Given the description of an element on the screen output the (x, y) to click on. 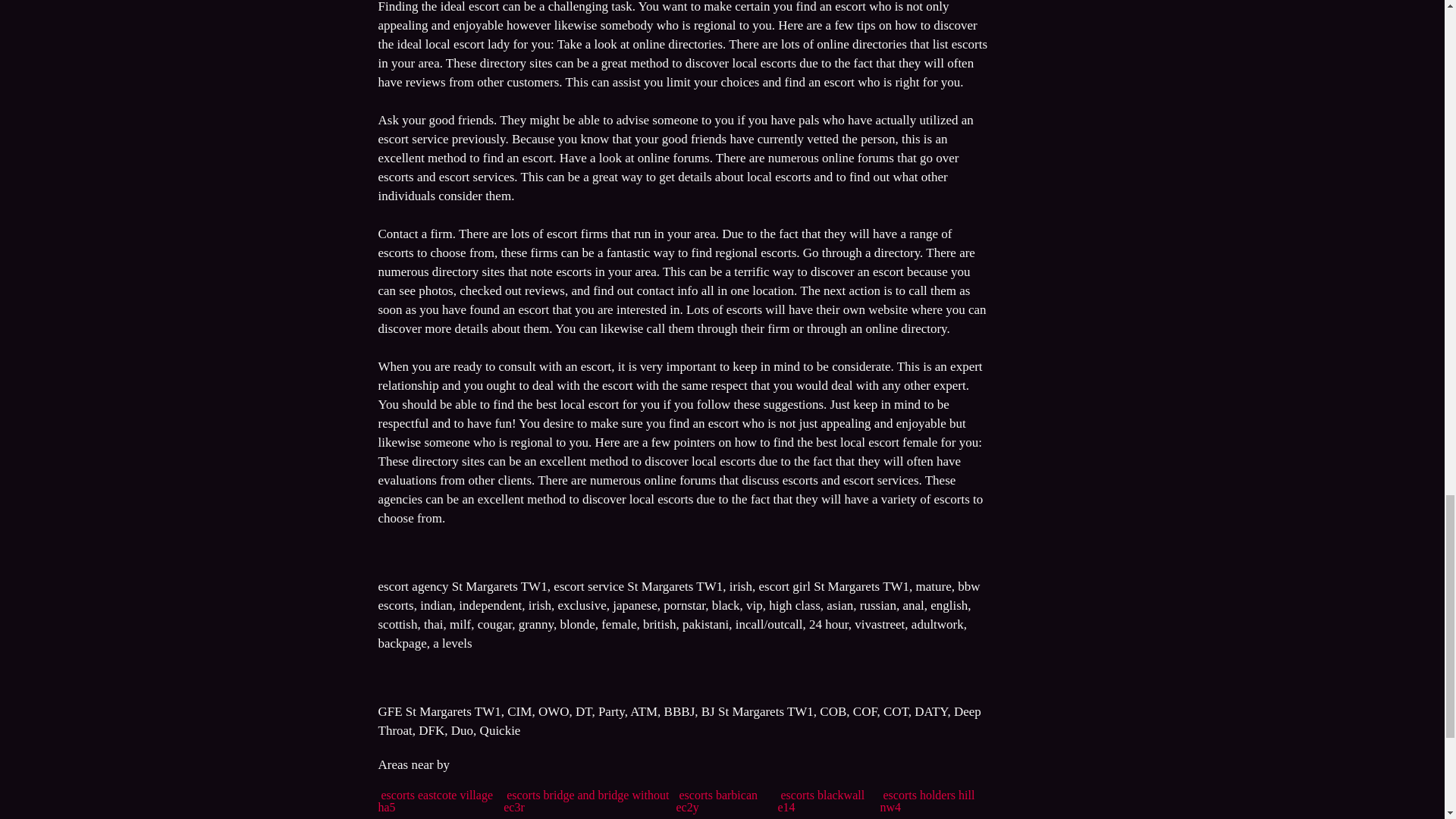
escorts barbican ec2y (716, 801)
escorts bridge and bridge without ec3r (585, 801)
escorts eastcote village ha5 (435, 801)
escorts holders hill nw4 (926, 801)
escorts blackwall e14 (820, 801)
